Given the description of an element on the screen output the (x, y) to click on. 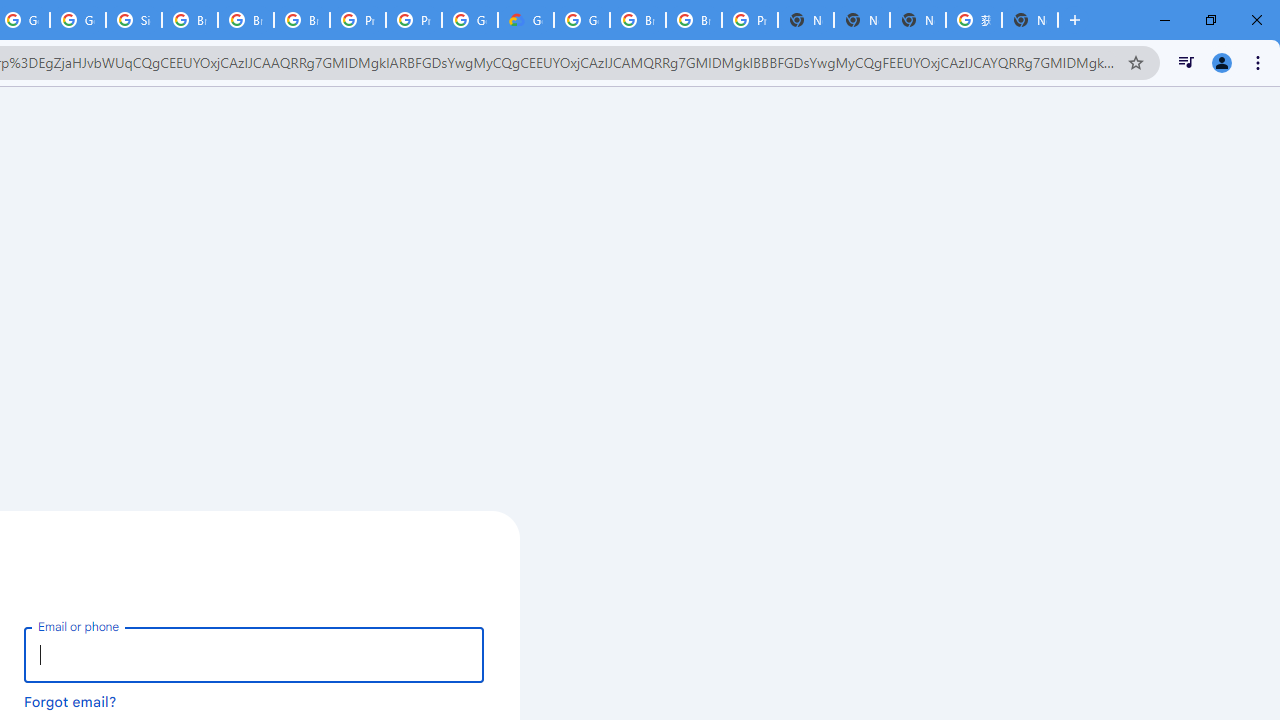
Sign in - Google Accounts (134, 20)
Browse Chrome as a guest - Computer - Google Chrome Help (189, 20)
New Tab (806, 20)
